Given the description of an element on the screen output the (x, y) to click on. 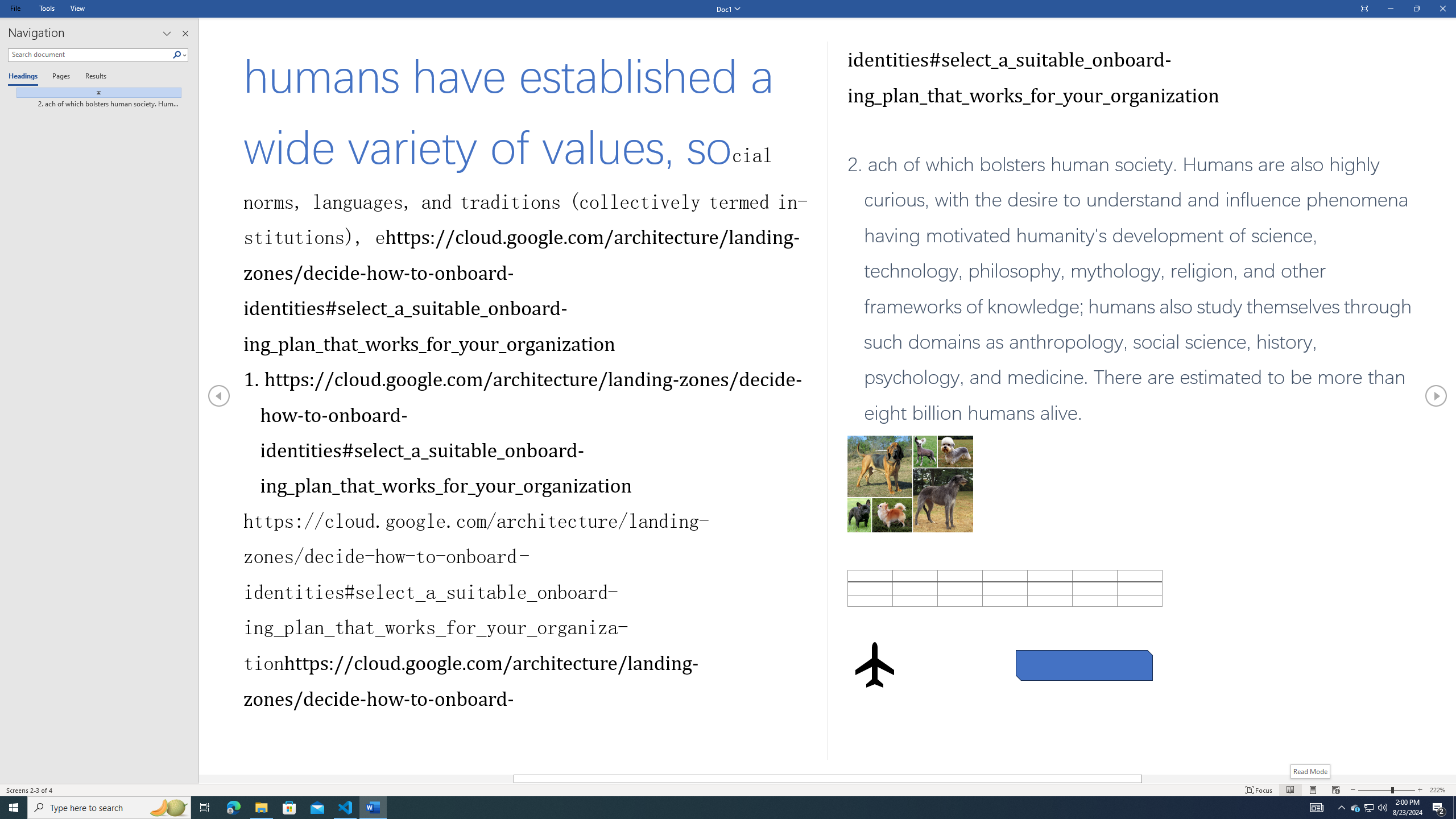
Page Number Screens 2-3 of 4  (29, 790)
2. (1131, 288)
Increase Text Size (1420, 790)
1. (522, 431)
